Given the description of an element on the screen output the (x, y) to click on. 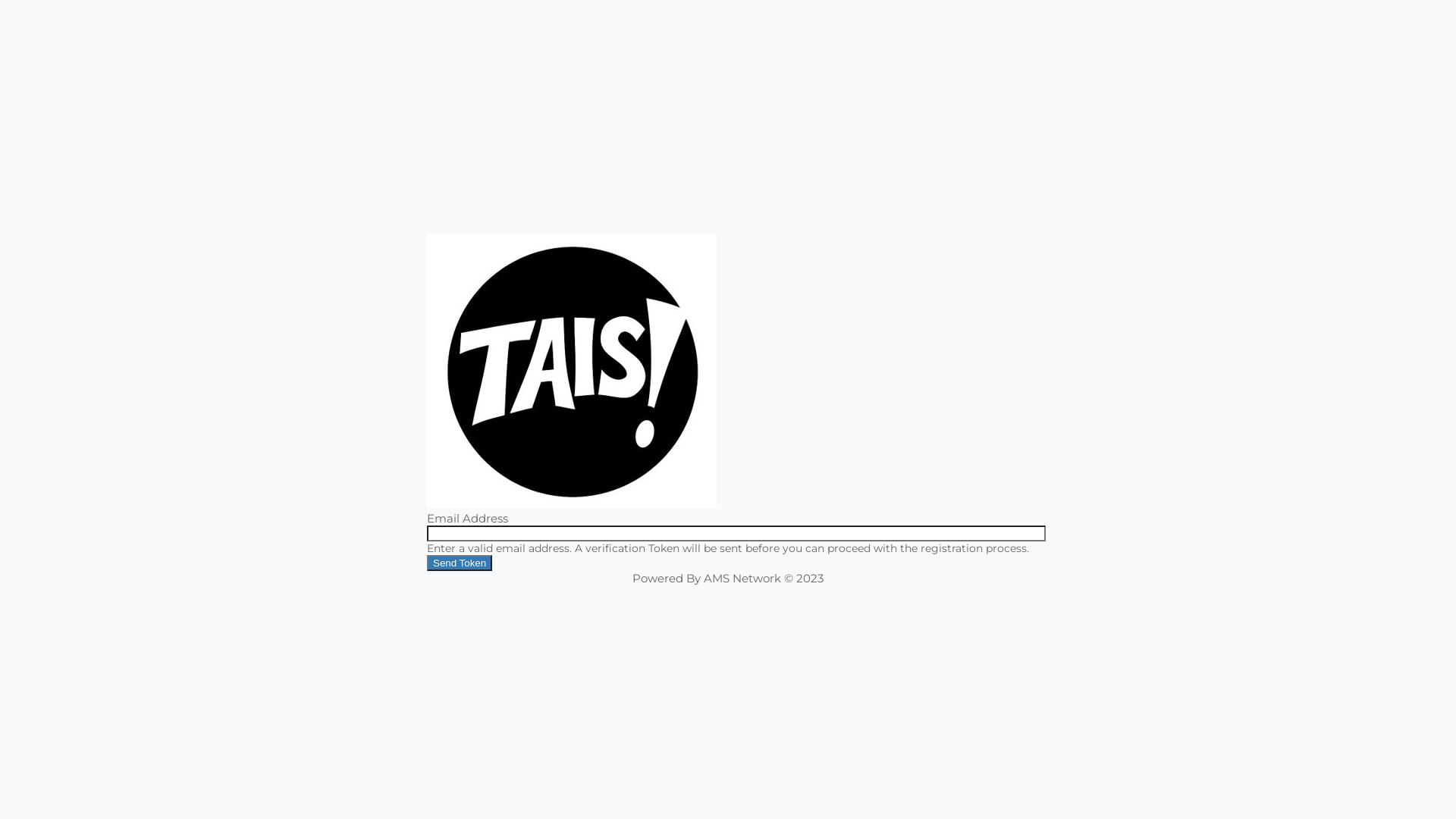
Send Token Element type: text (459, 563)
